Given the description of an element on the screen output the (x, y) to click on. 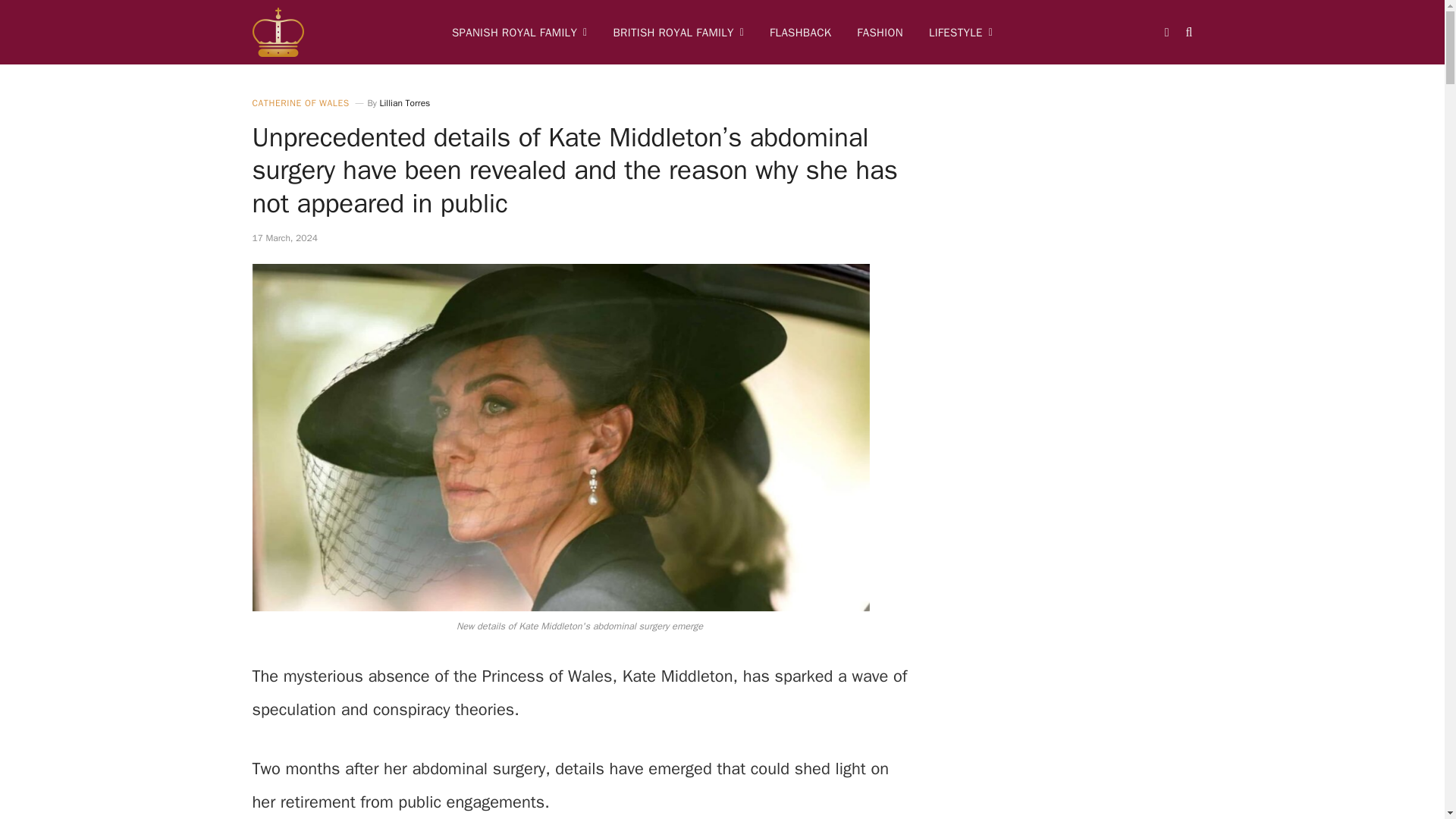
Posts by Lillian Torres (403, 102)
SPANISH ROYAL FAMILY (519, 32)
BRITISH ROYAL FAMILY (678, 32)
Switch to Dark Design - easier on eyes. (1166, 31)
